Given the description of an element on the screen output the (x, y) to click on. 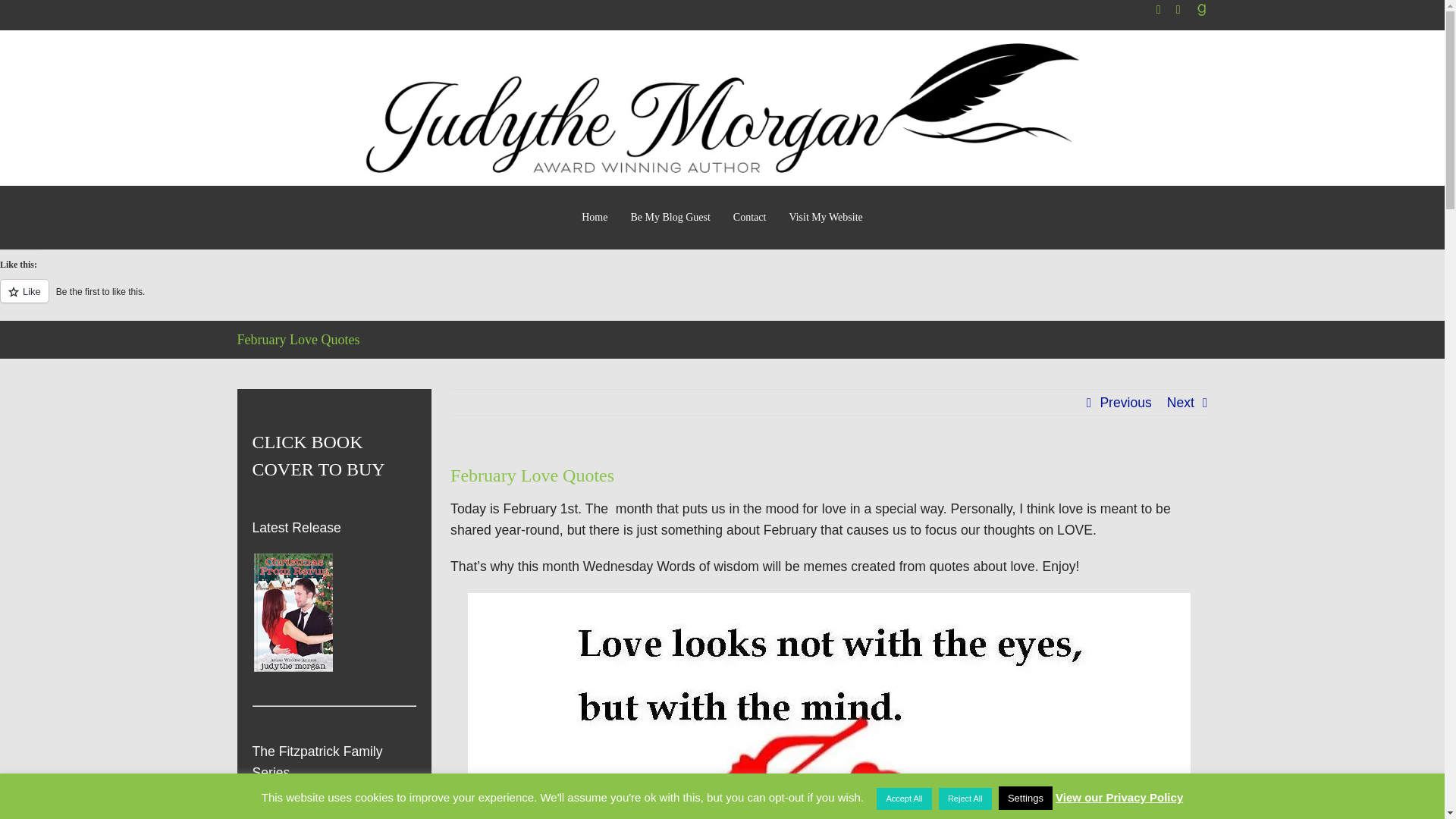
Be My Blog Guest (669, 217)
Next (1180, 402)
Visit My Website (825, 217)
Contact (749, 217)
Previous (1125, 402)
Home (594, 217)
